Given the description of an element on the screen output the (x, y) to click on. 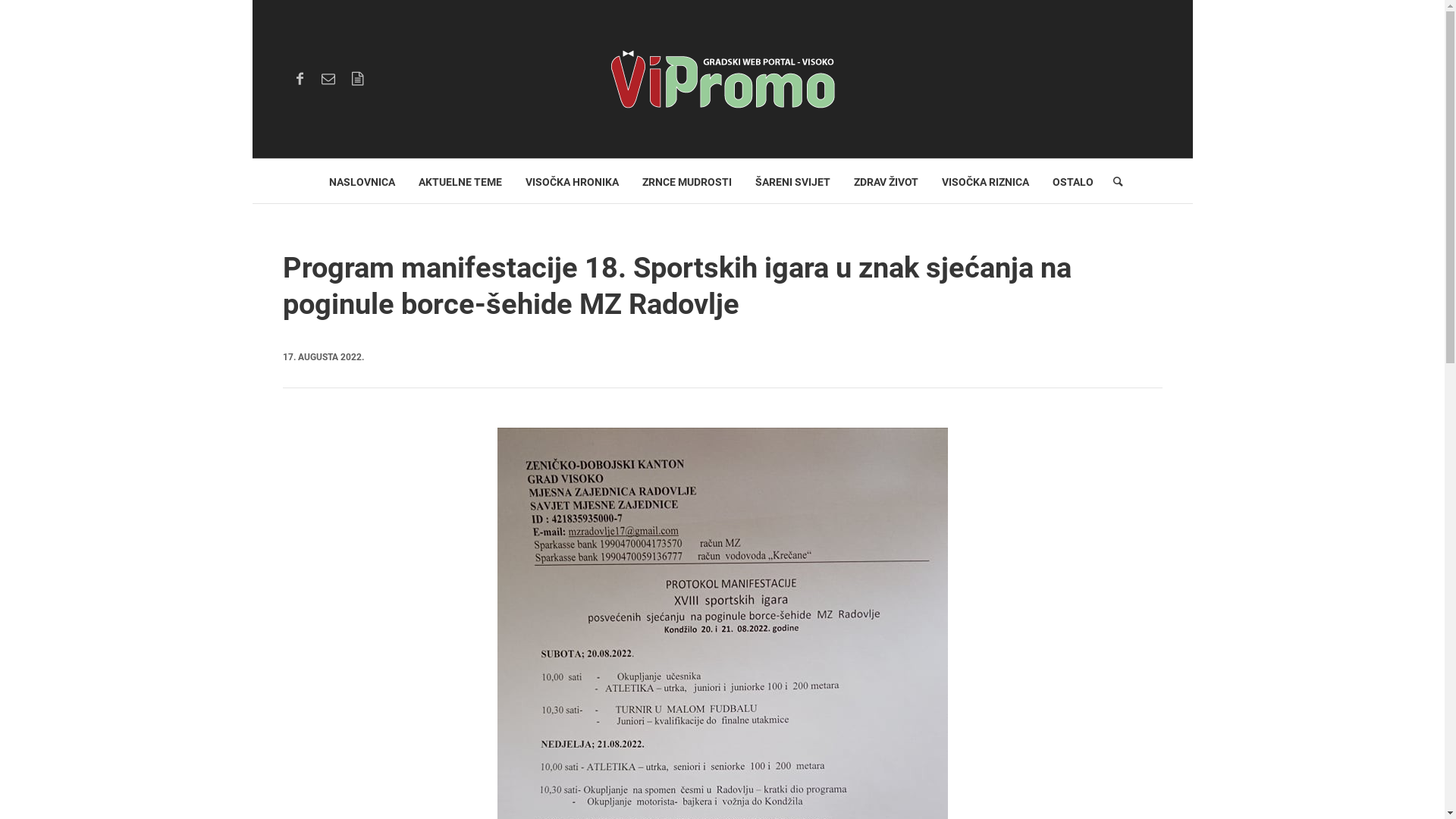
Facebook Element type: hover (299, 78)
OSTALO Element type: text (1072, 180)
ZRNCE MUDROSTI Element type: text (686, 180)
NASLOVNICA Element type: text (361, 180)
AKTUELNE TEME Element type: text (459, 180)
Kontakt Element type: hover (328, 78)
